Given the description of an element on the screen output the (x, y) to click on. 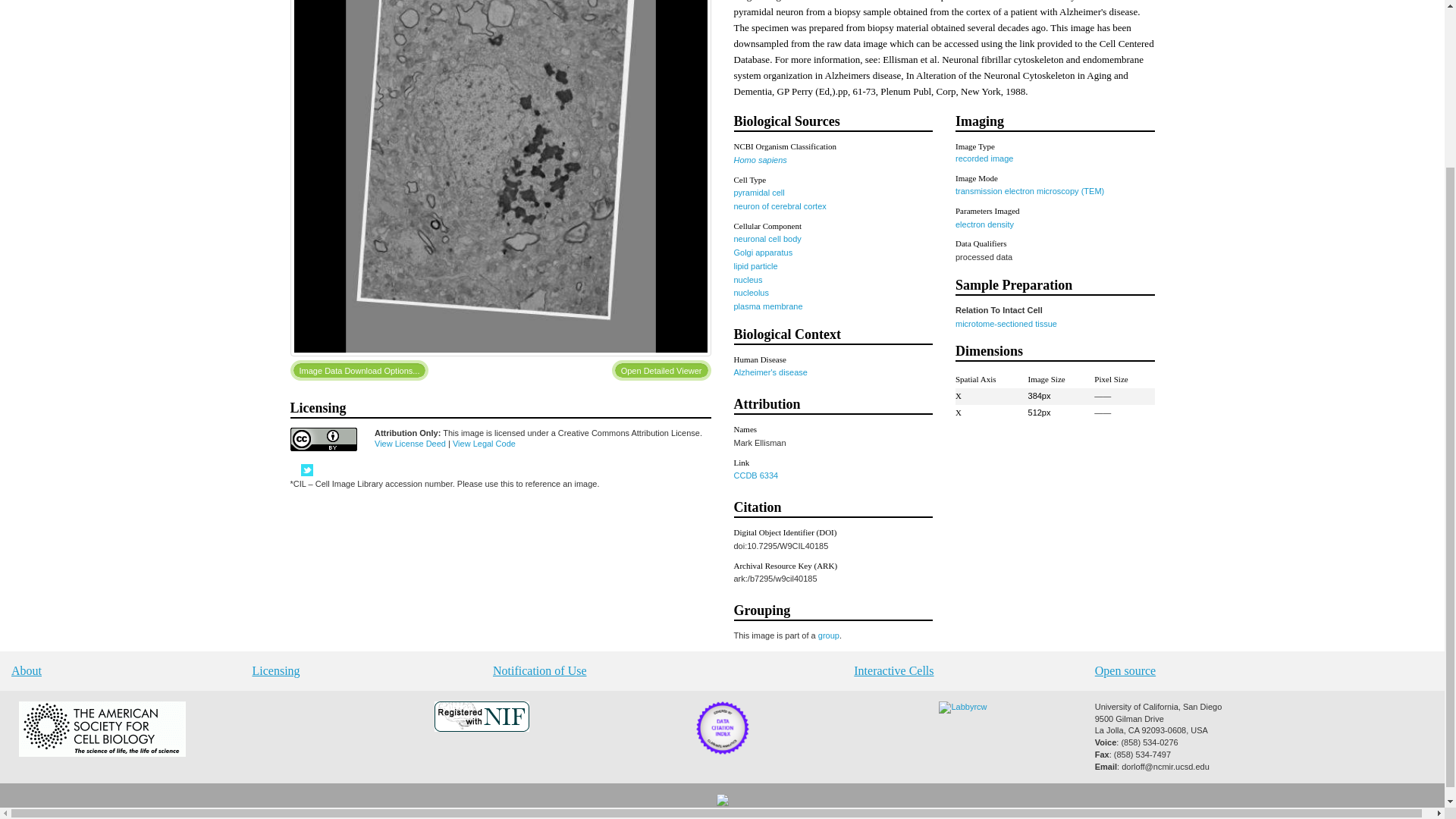
Homo sapiens (760, 159)
nucleolus (750, 292)
Alzheimer's disease (770, 371)
Image Data Download Options... (358, 370)
Registered with NIF (480, 728)
View Legal Code (483, 442)
Data Citation Index (722, 750)
pyramidal cell (758, 192)
DOID:10652 (770, 371)
neuron of cerebral cortex (780, 205)
